Given the description of an element on the screen output the (x, y) to click on. 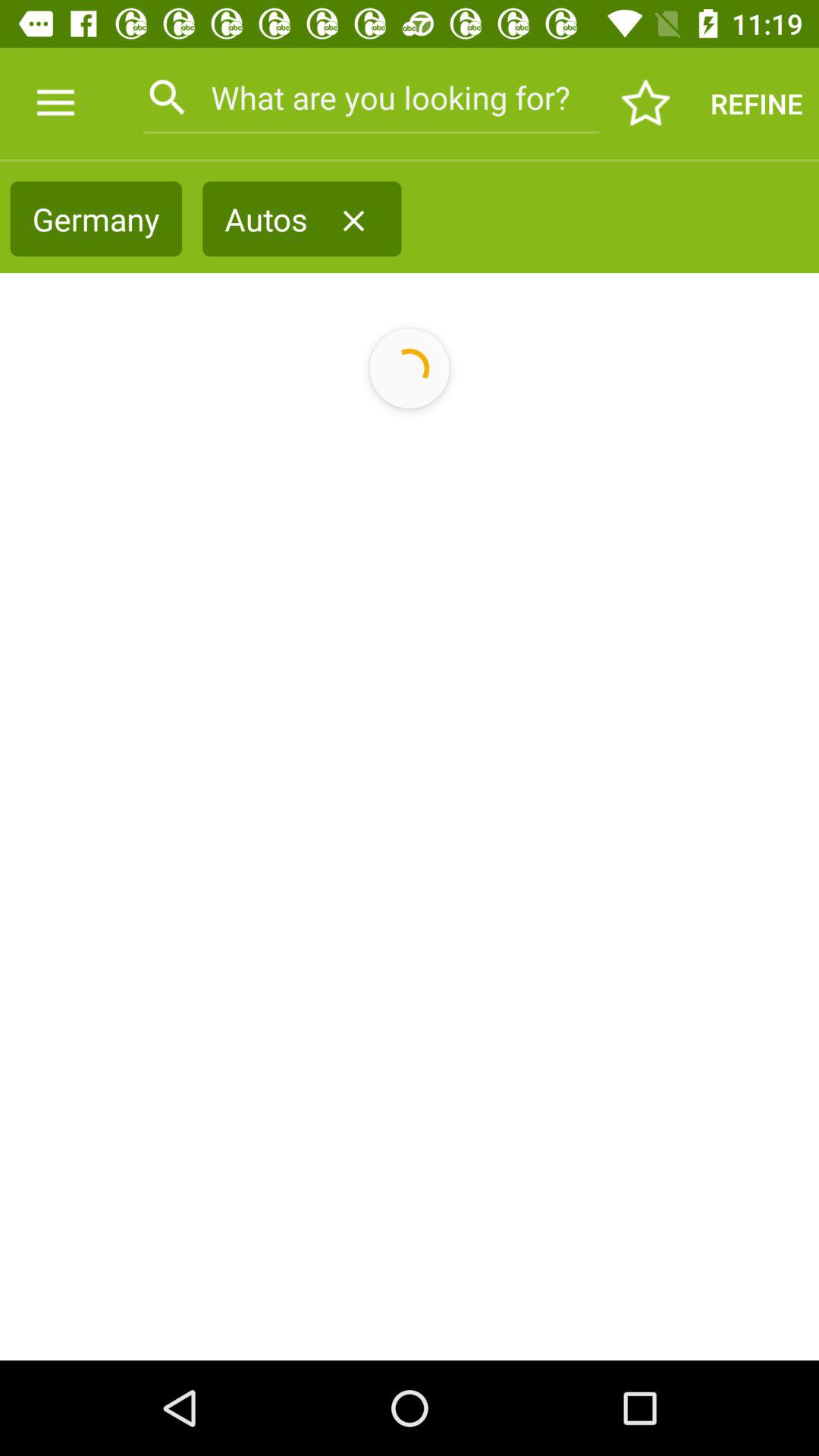
tap item to the left of the what are you (55, 103)
